Given the description of an element on the screen output the (x, y) to click on. 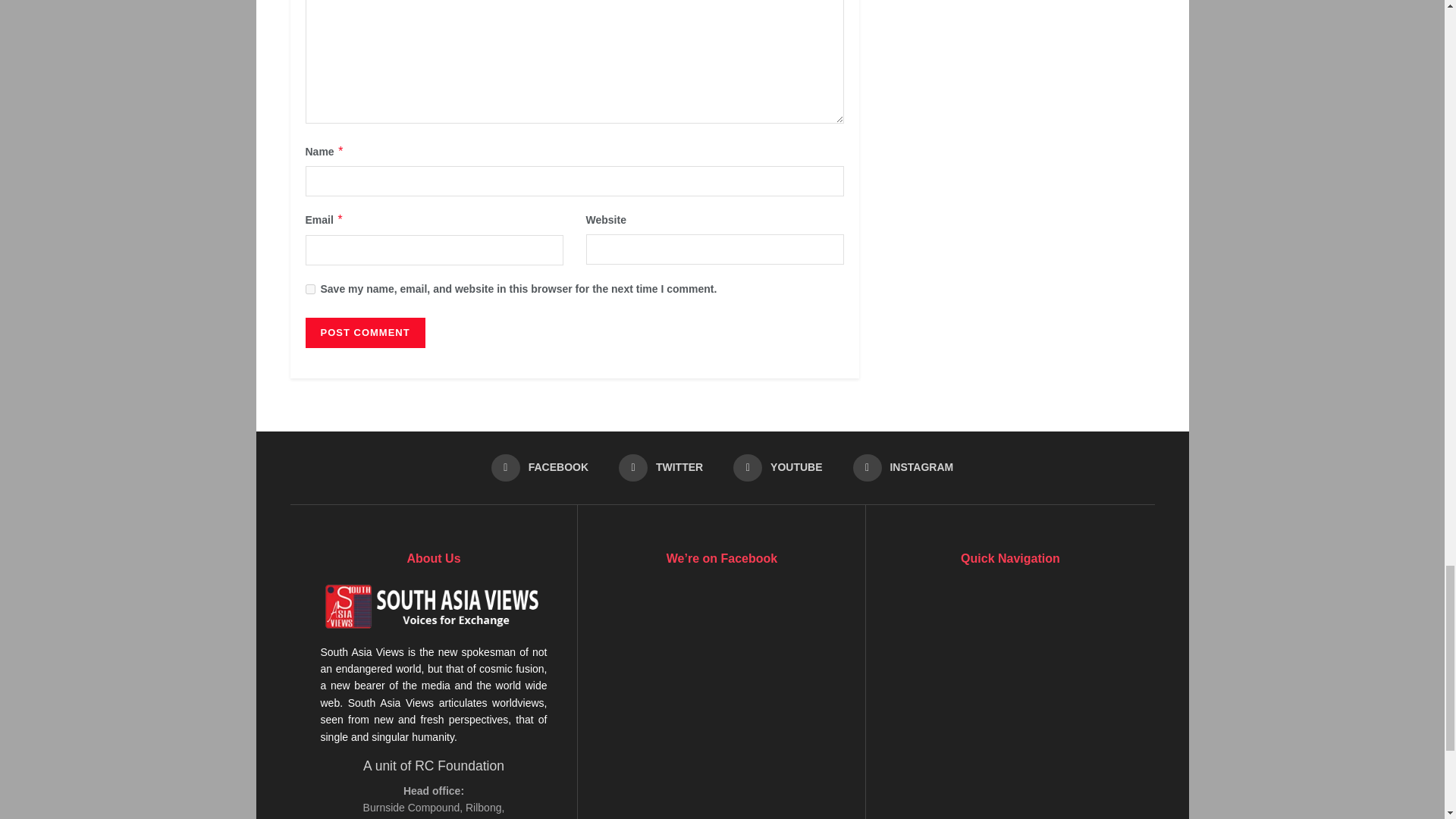
yes (309, 289)
Post Comment (364, 332)
